Given the description of an element on the screen output the (x, y) to click on. 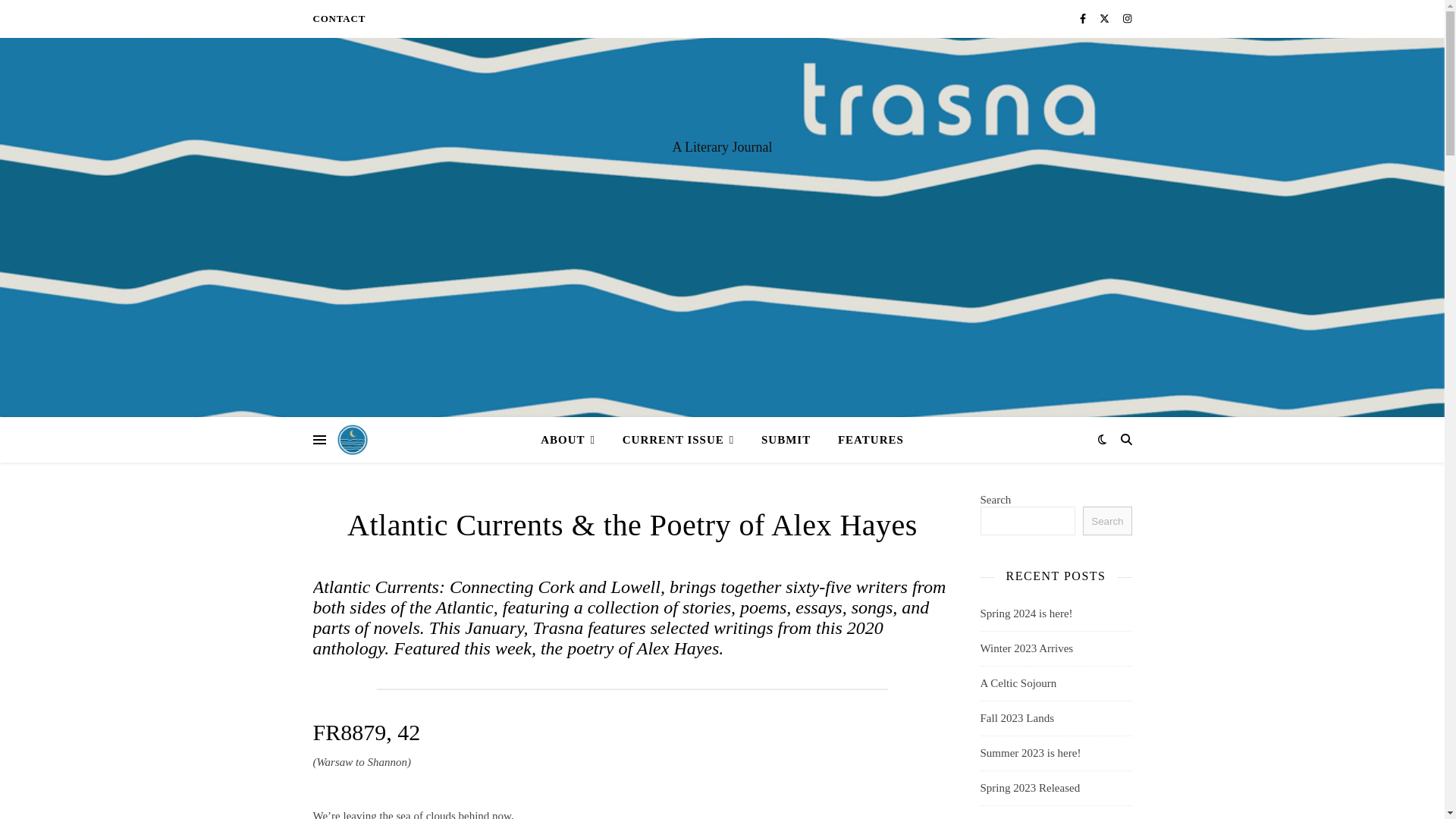
Trasna (351, 439)
FEATURES (864, 439)
CONTACT (339, 18)
CURRENT ISSUE (678, 439)
SUBMIT (785, 439)
ABOUT (573, 439)
